Given the description of an element on the screen output the (x, y) to click on. 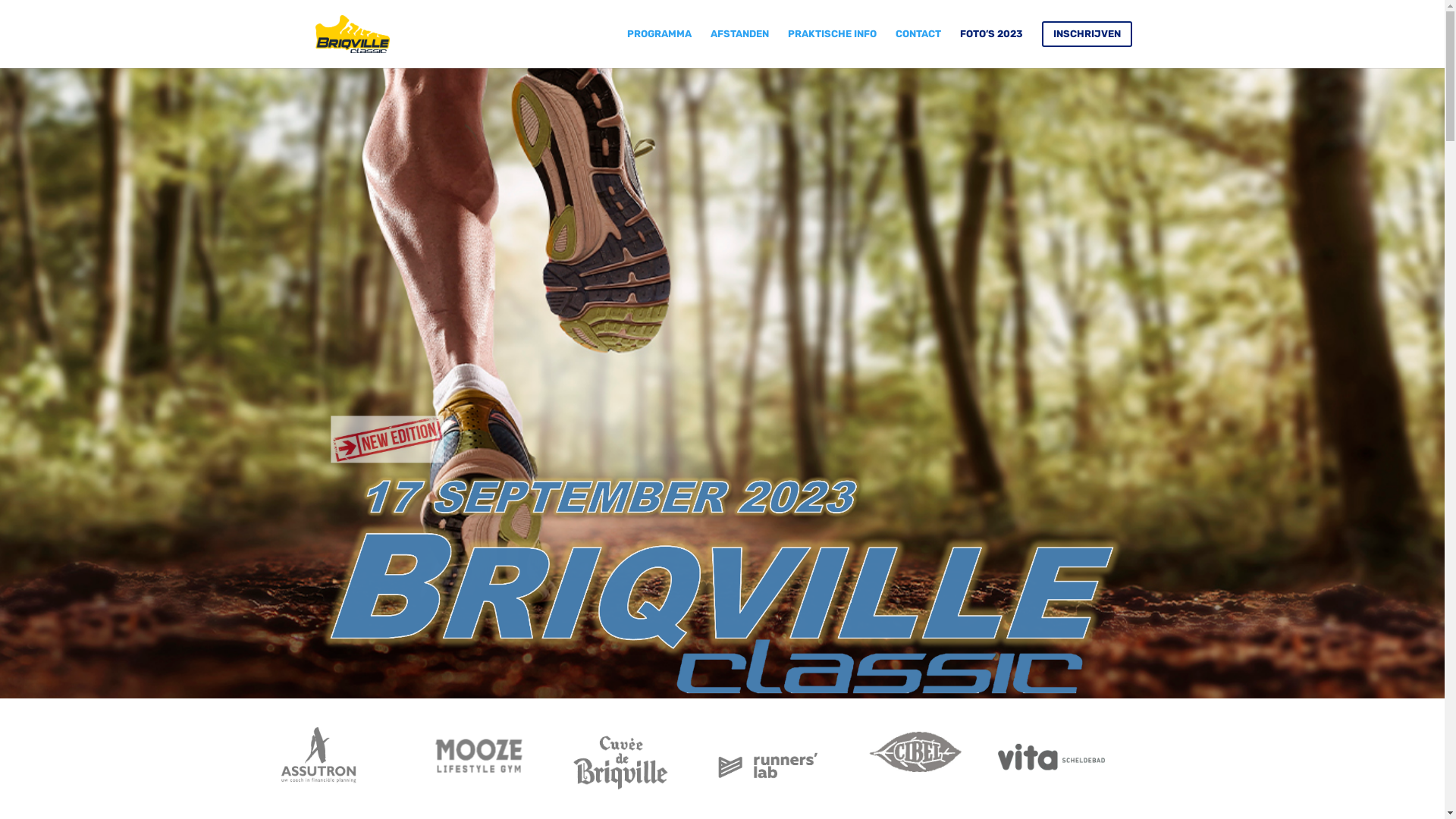
PROGRAMMA Element type: text (658, 44)
CONTACT Element type: text (917, 44)
PRAKTISCHE INFO Element type: text (831, 44)
INSCHRIJVEN Element type: text (1086, 44)
AFSTANDEN Element type: text (738, 44)
